Given the description of an element on the screen output the (x, y) to click on. 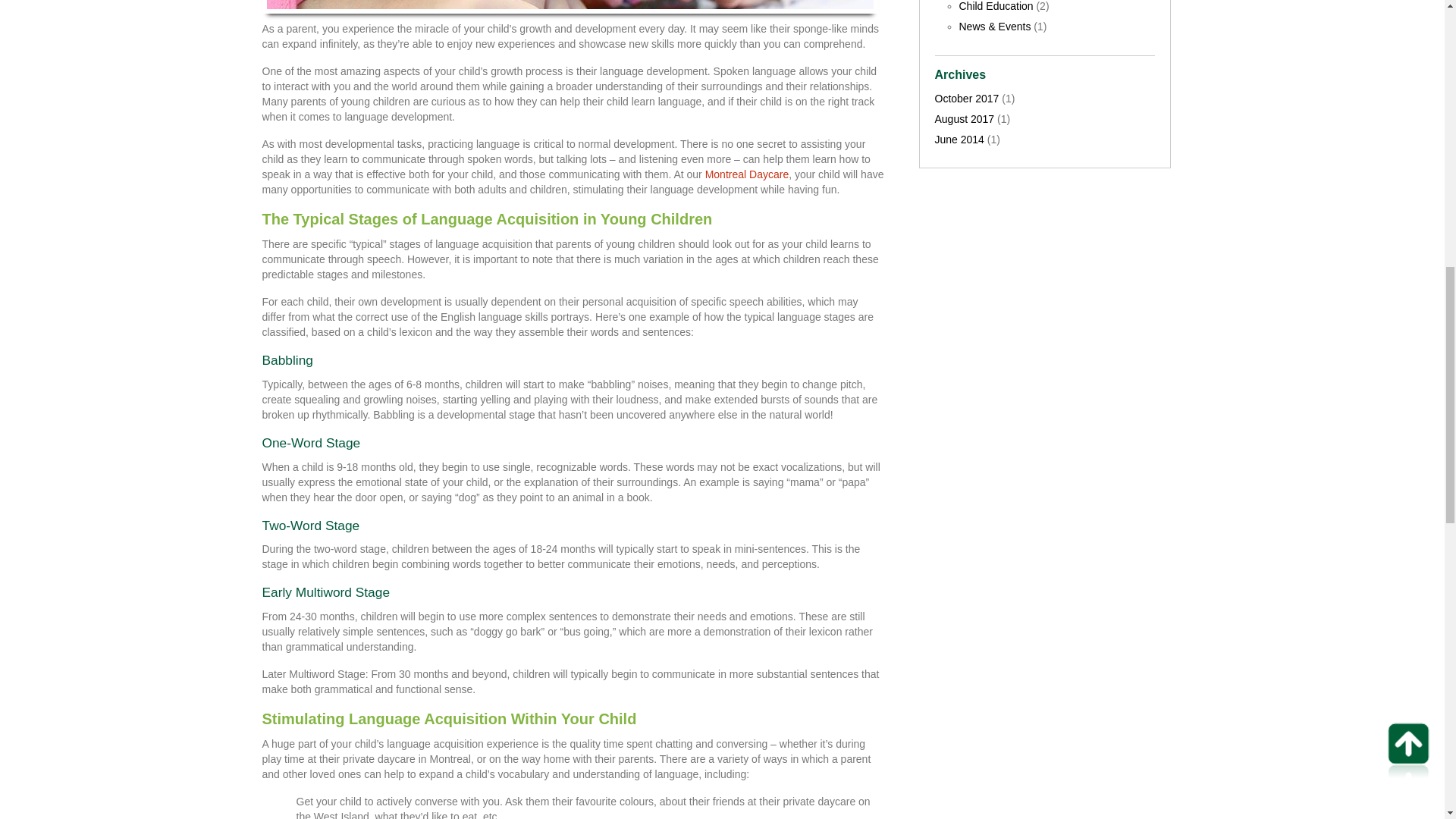
Montreal Daycare (746, 174)
